Given the description of an element on the screen output the (x, y) to click on. 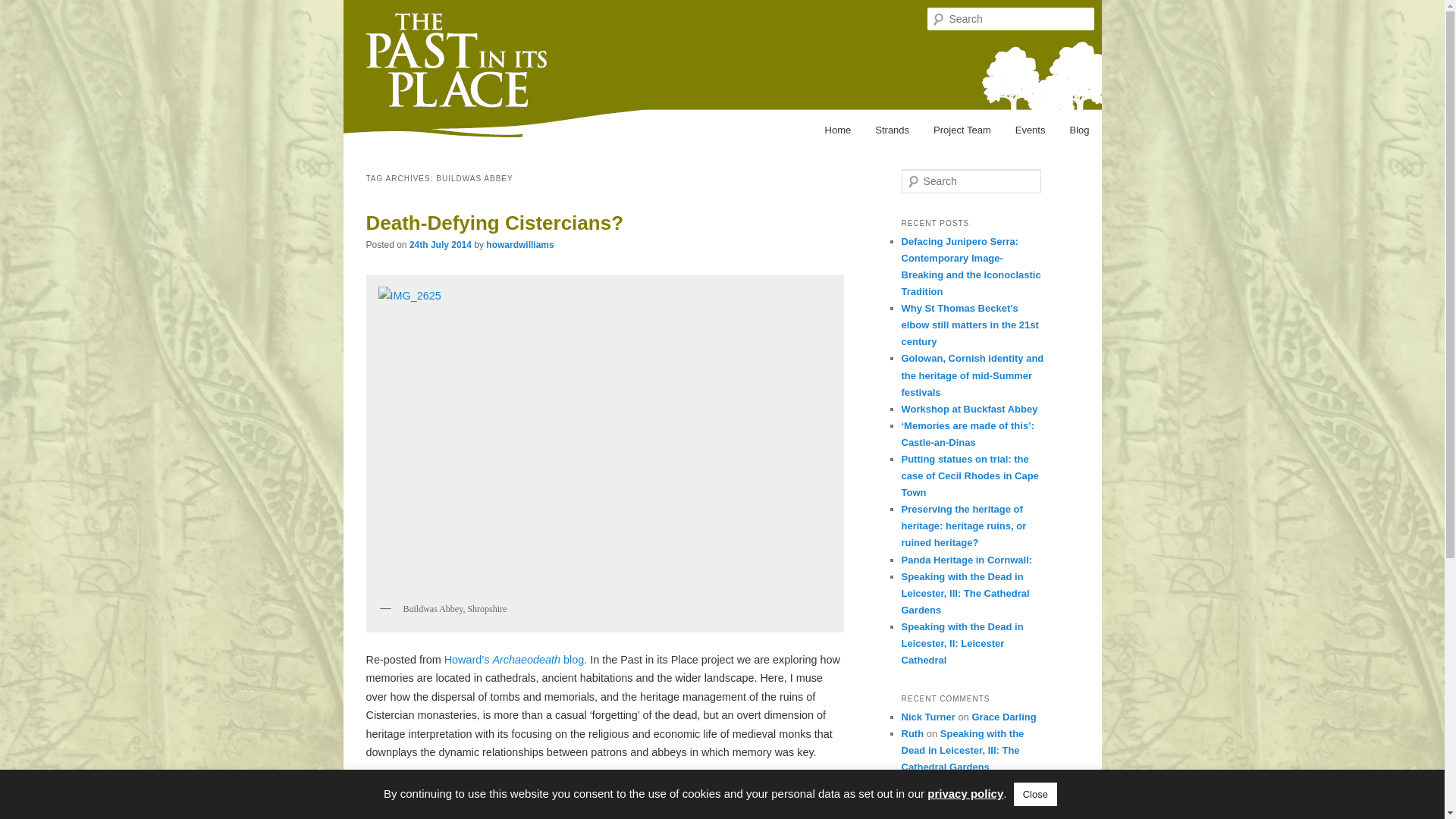
Home (837, 130)
24th July 2014 (440, 244)
Search (24, 8)
Search (21, 11)
Panda Heritage in Cornwall: (966, 559)
howardwilliams (519, 244)
Archaeodeath (516, 659)
Speaking with the Dead in Leicester, II: Leicester Cathedral (962, 642)
Update (955, 783)
Events (1030, 130)
Strands (892, 130)
Buildwas Abbey (514, 788)
